Given the description of an element on the screen output the (x, y) to click on. 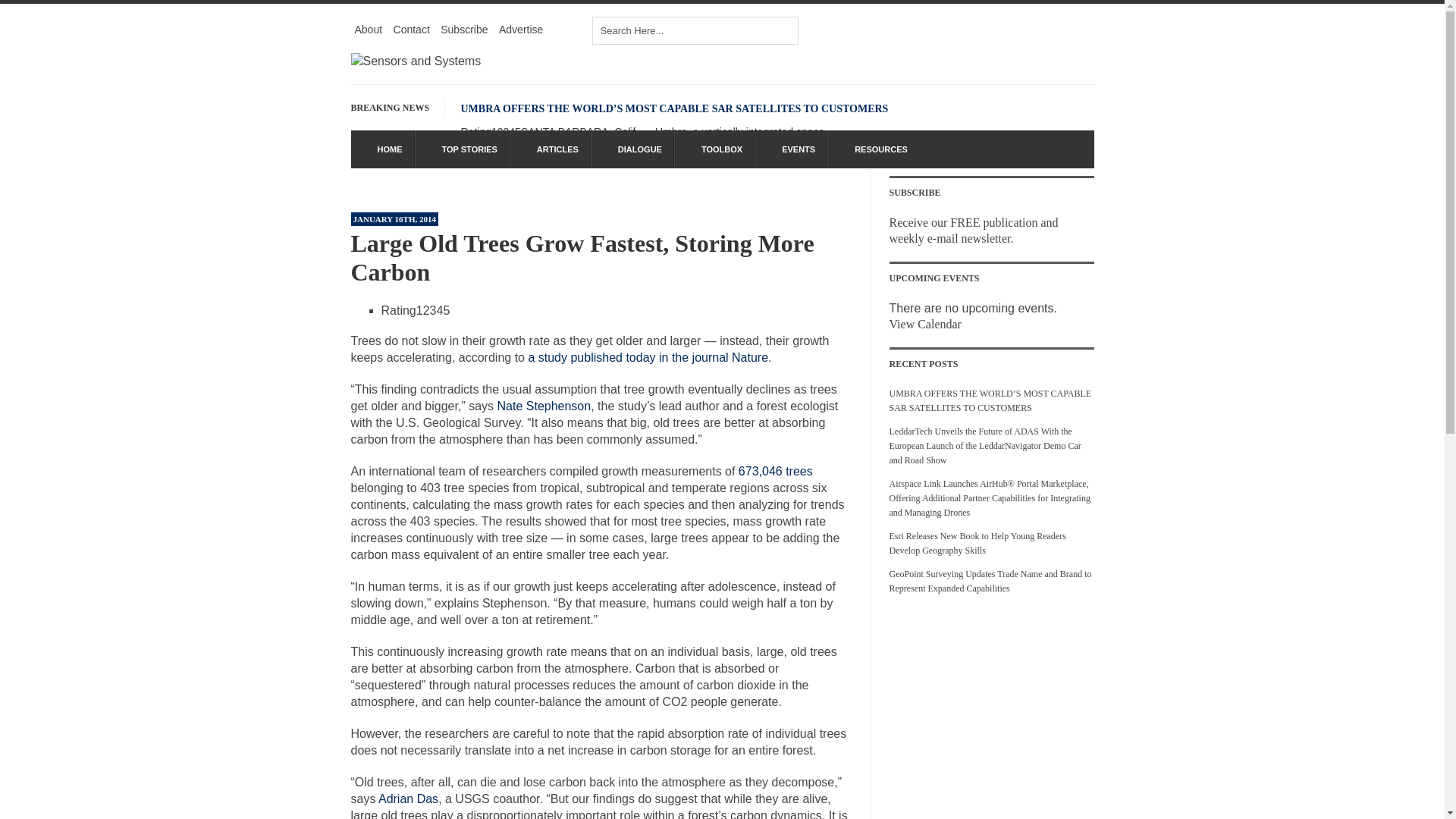
HOME (382, 149)
Sensors and Systems (415, 60)
Contact (411, 29)
RESOURCES (873, 149)
Eijournal (981, 31)
Twitter (917, 31)
About (368, 29)
Twitter (917, 31)
EVENTS (791, 149)
V1-Media (949, 31)
TOP STORIES (461, 149)
GeoSpatial Stream (1078, 31)
Facebook (885, 31)
Search Here... (694, 30)
DIALOGUE (632, 149)
